Given the description of an element on the screen output the (x, y) to click on. 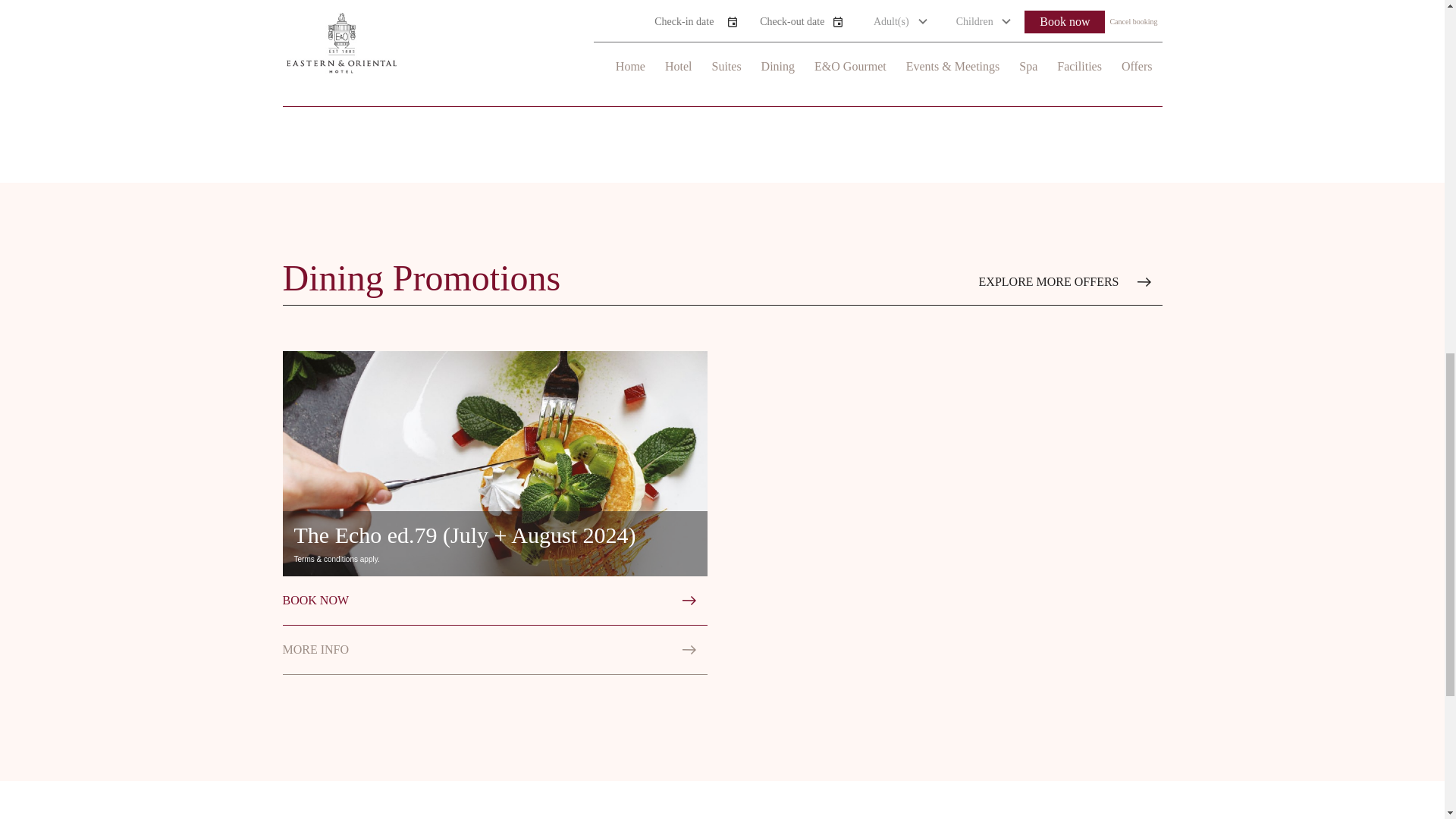
MORE INFO (494, 649)
BOOK NOW (494, 600)
EXPLORE MORE OFFERS (1069, 281)
BOOK NOW (721, 82)
